Given the description of an element on the screen output the (x, y) to click on. 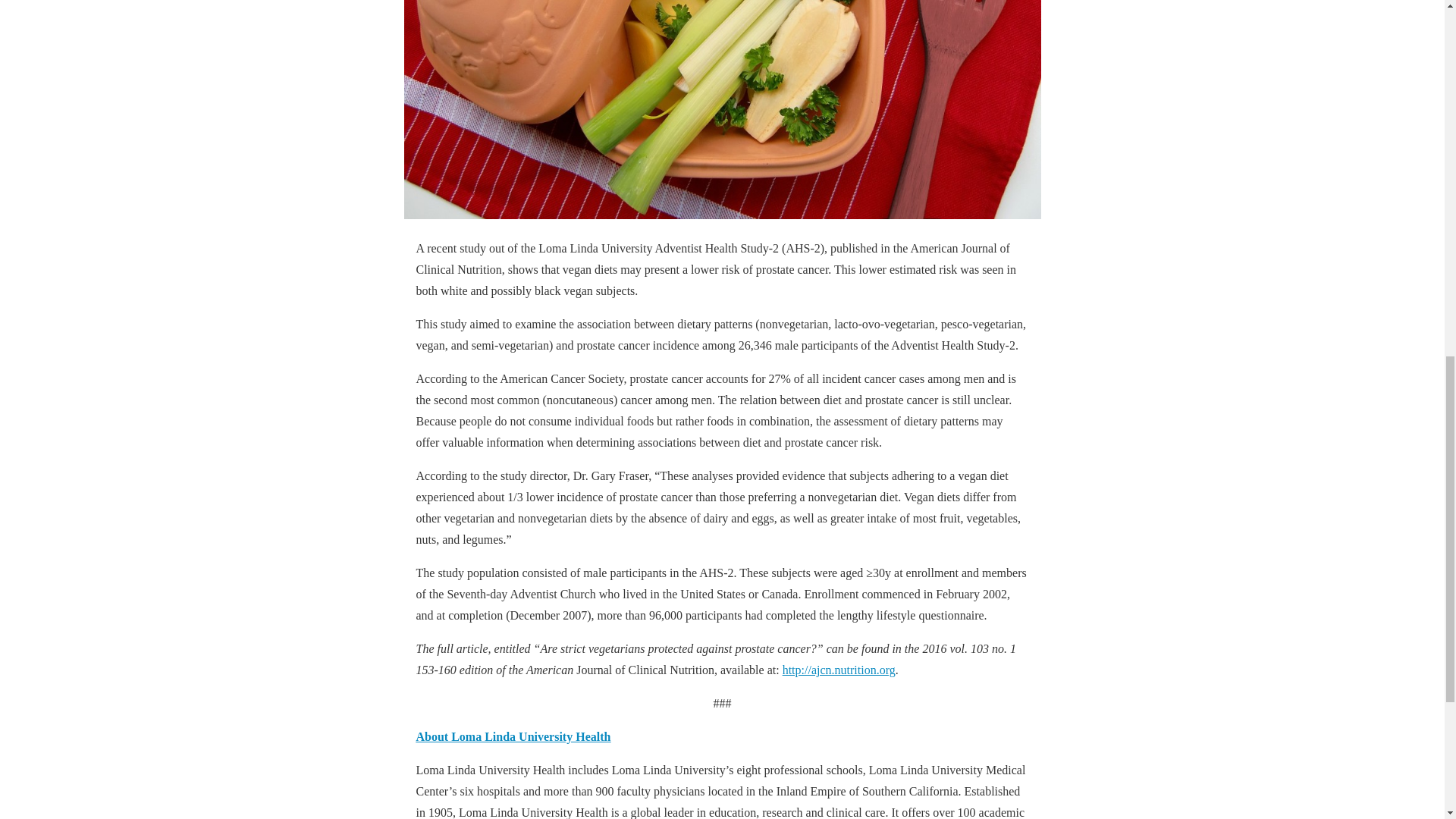
About Loma Linda University Health (512, 736)
